Given the description of an element on the screen output the (x, y) to click on. 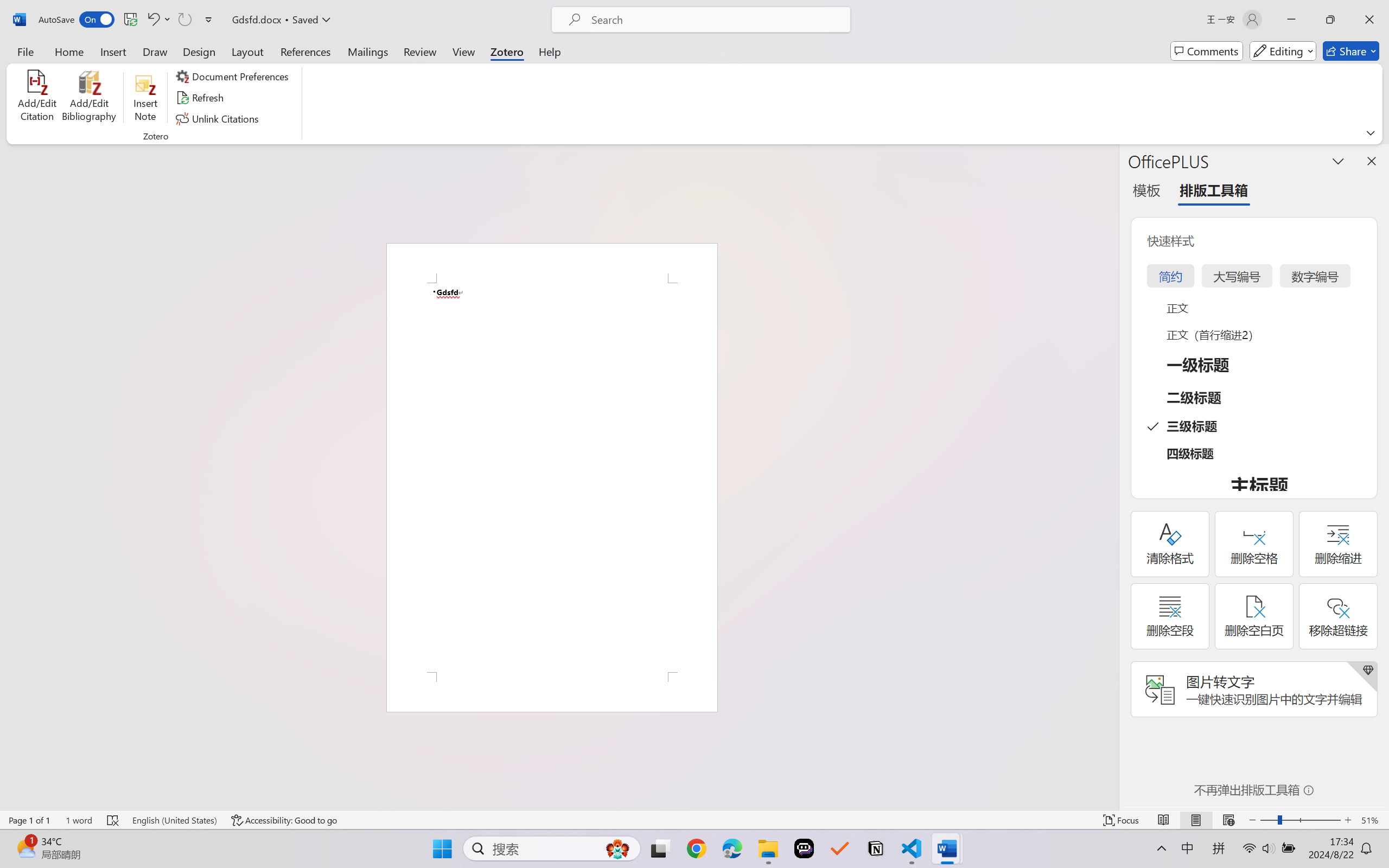
Add/Edit Citation (37, 97)
Spelling and Grammar Check Errors (113, 819)
